Given the description of an element on the screen output the (x, y) to click on. 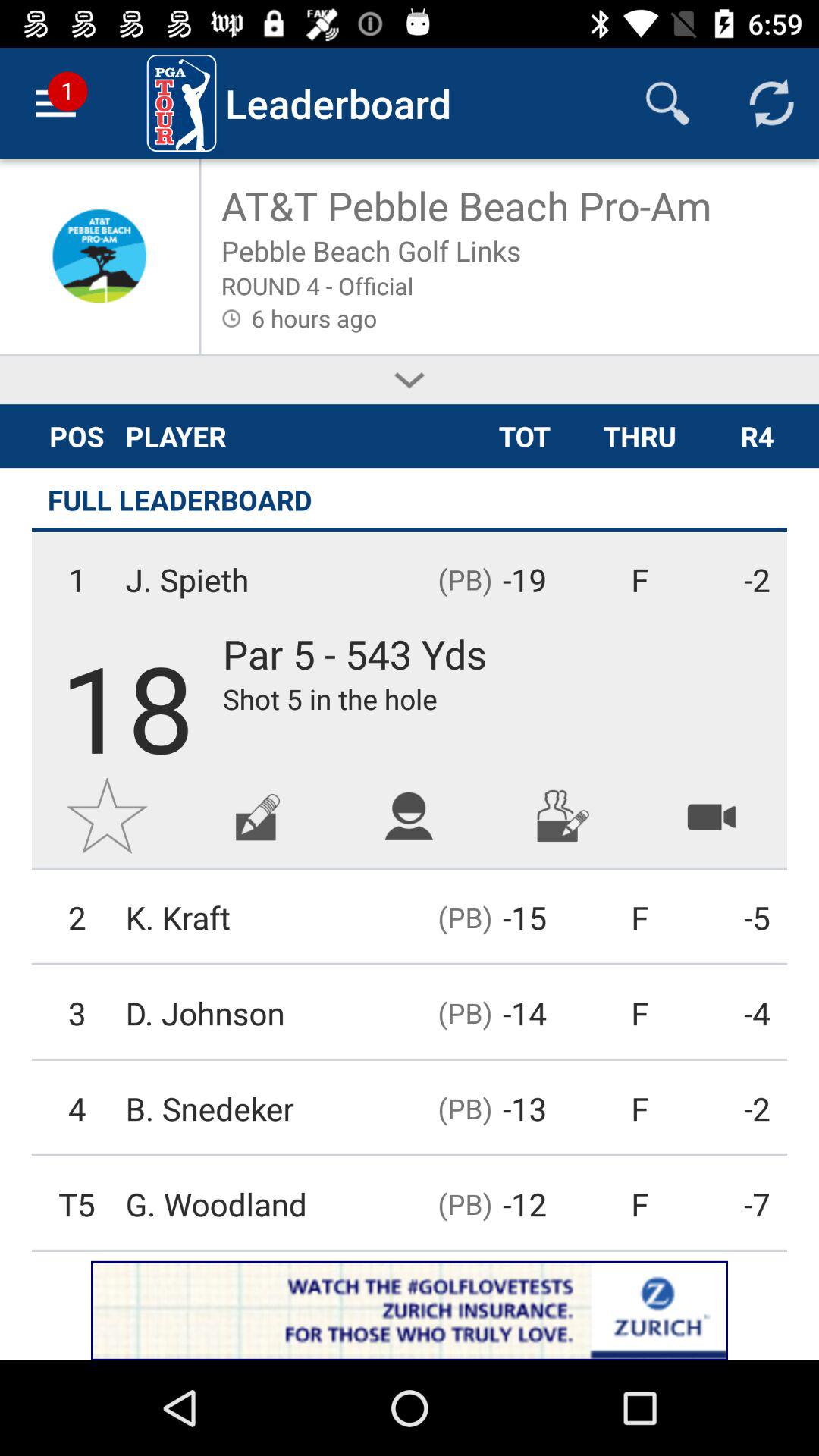
add video (711, 815)
